Given the description of an element on the screen output the (x, y) to click on. 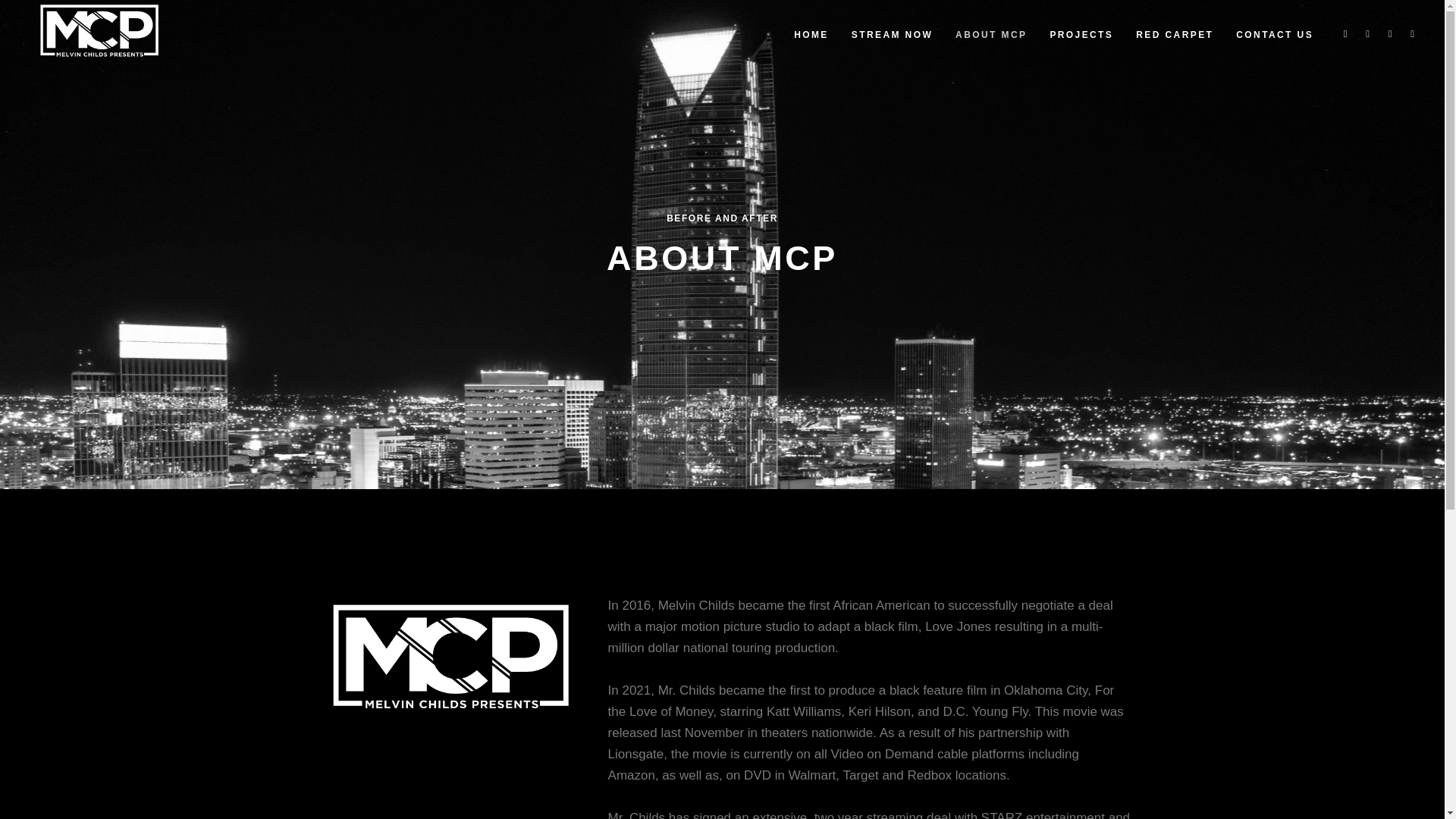
STREAM NOW (891, 33)
RED CARPET (1174, 33)
CONTACT US (1274, 33)
ABOUT MCP (990, 33)
PROJECTS (1081, 33)
